Given the description of an element on the screen output the (x, y) to click on. 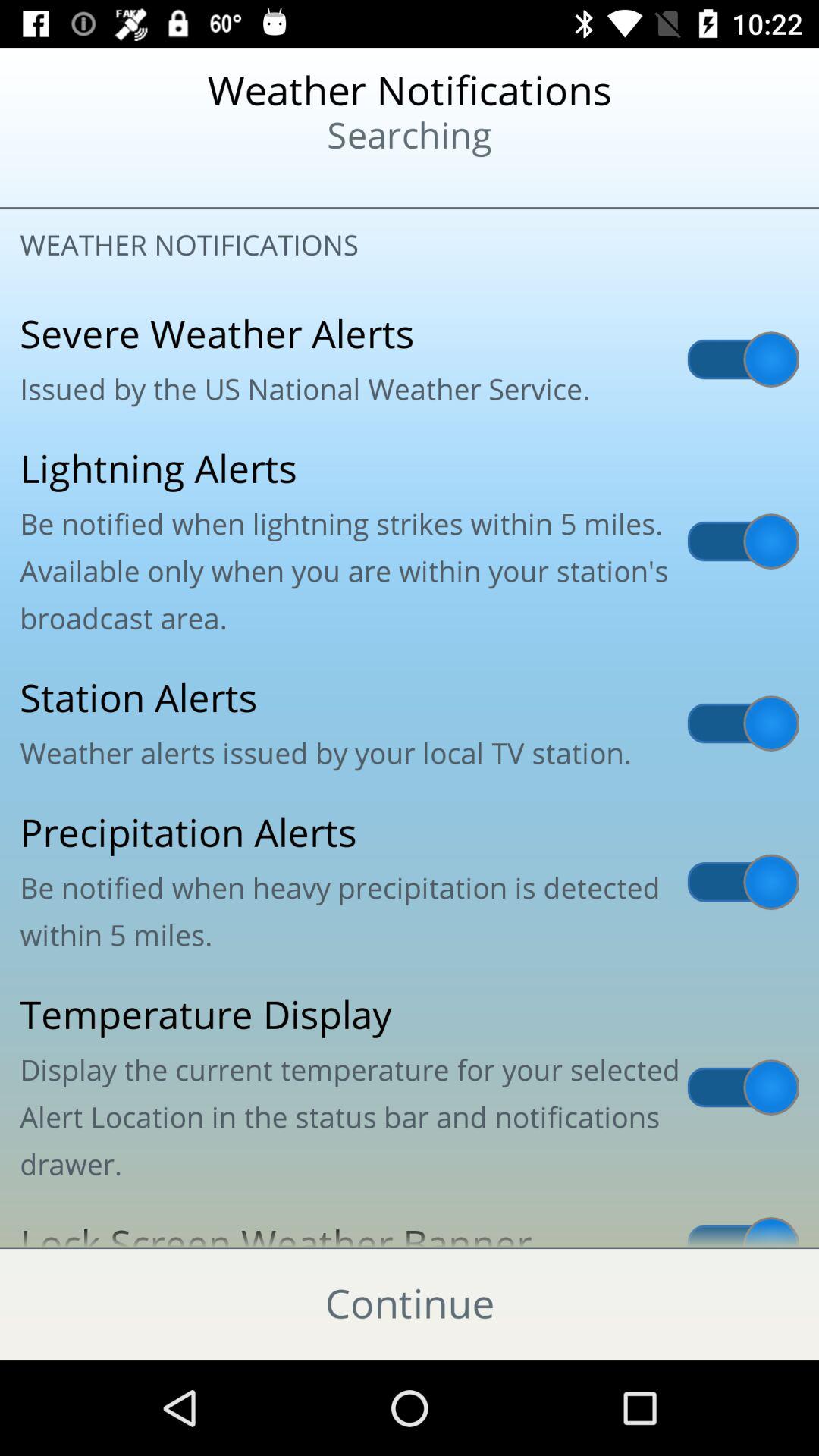
turn on the item to the left of the searching item (99, 182)
